Given the description of an element on the screen output the (x, y) to click on. 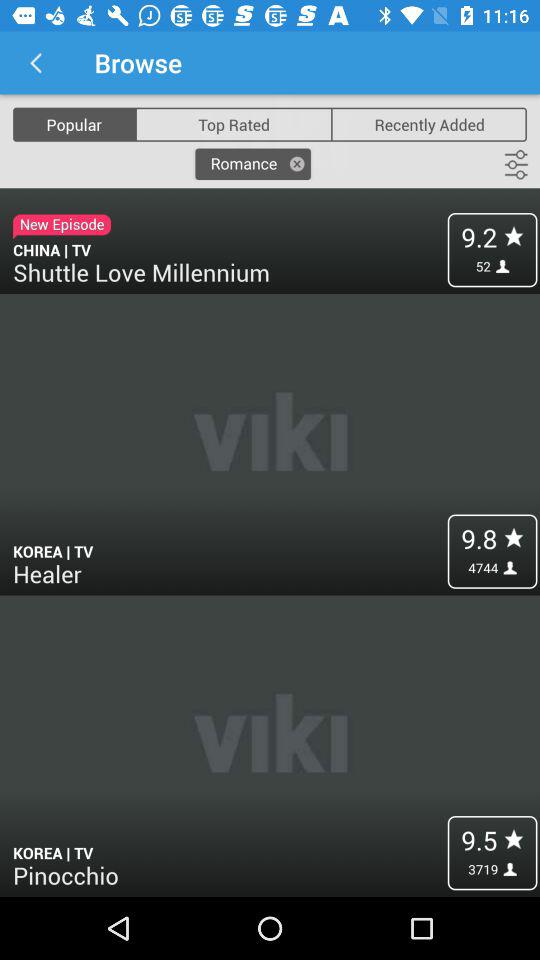
swipe to recently added icon (429, 124)
